Given the description of an element on the screen output the (x, y) to click on. 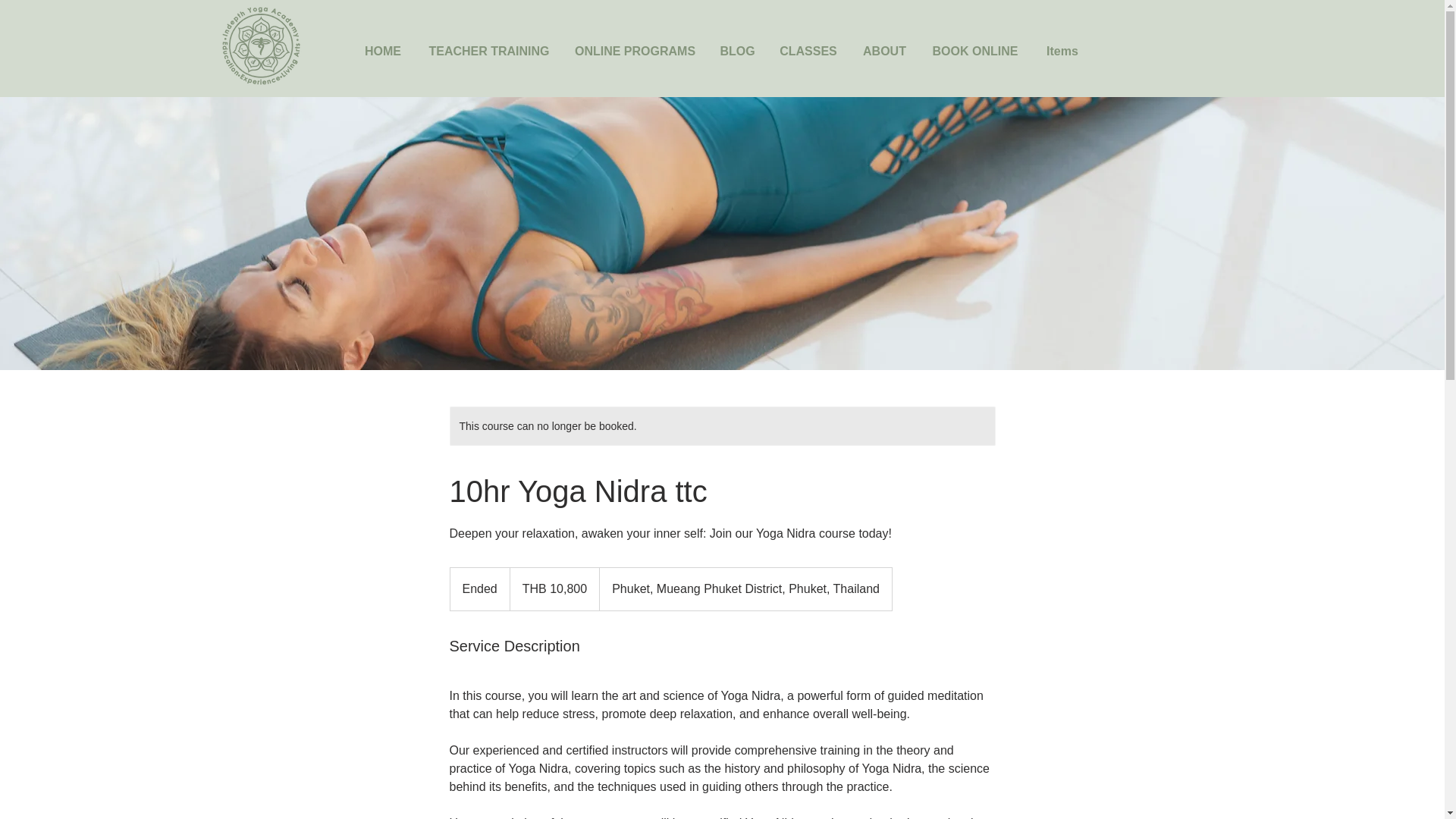
BOOK ONLINE (975, 50)
CLASSES (807, 50)
HOME (382, 50)
BLOG (736, 50)
Items (1061, 50)
